Given the description of an element on the screen output the (x, y) to click on. 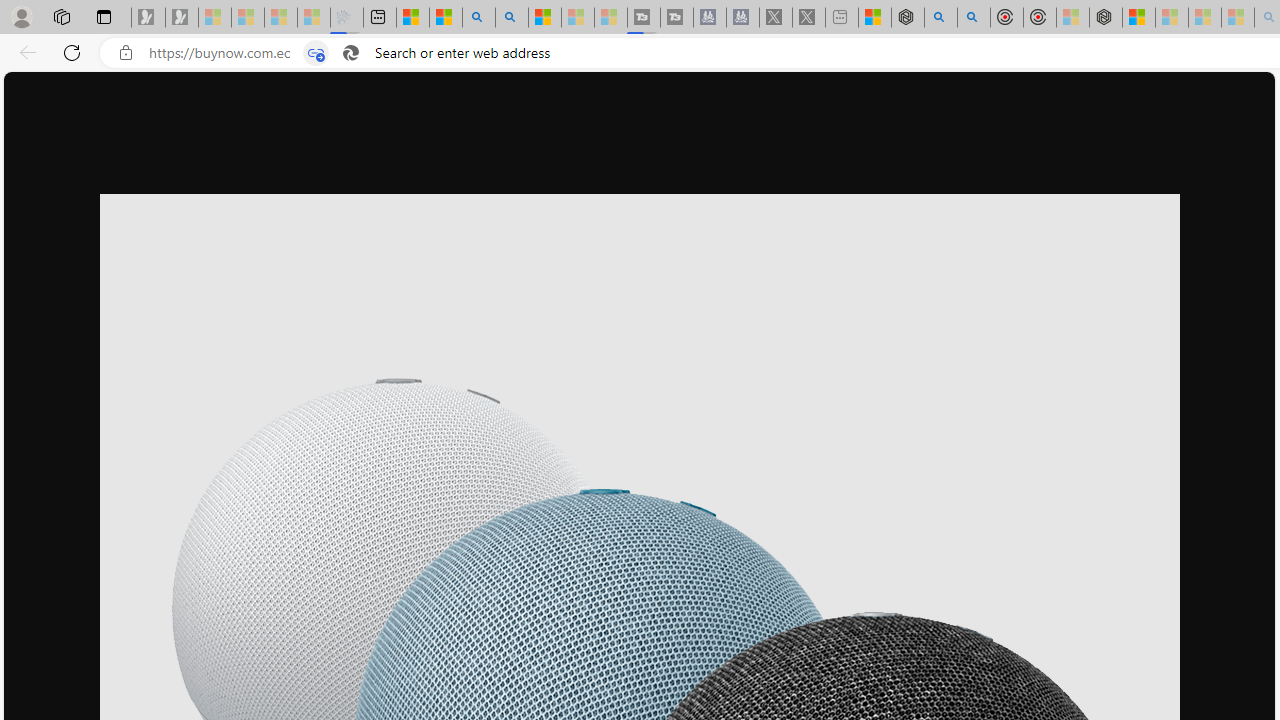
Search (511, 17)
Wildlife - MSN (874, 17)
Nordace - Nordace Siena Is Not An Ordinary Backpack (1106, 17)
Back (24, 52)
Workspaces (61, 16)
Refresh (72, 52)
New tab - Sleeping (841, 17)
X - Sleeping (808, 17)
Streaming Coverage | T3 - Sleeping (644, 17)
poe ++ standard - Search (973, 17)
Microsoft Start - Sleeping (577, 17)
Tabs in split screen (315, 53)
